Given the description of an element on the screen output the (x, y) to click on. 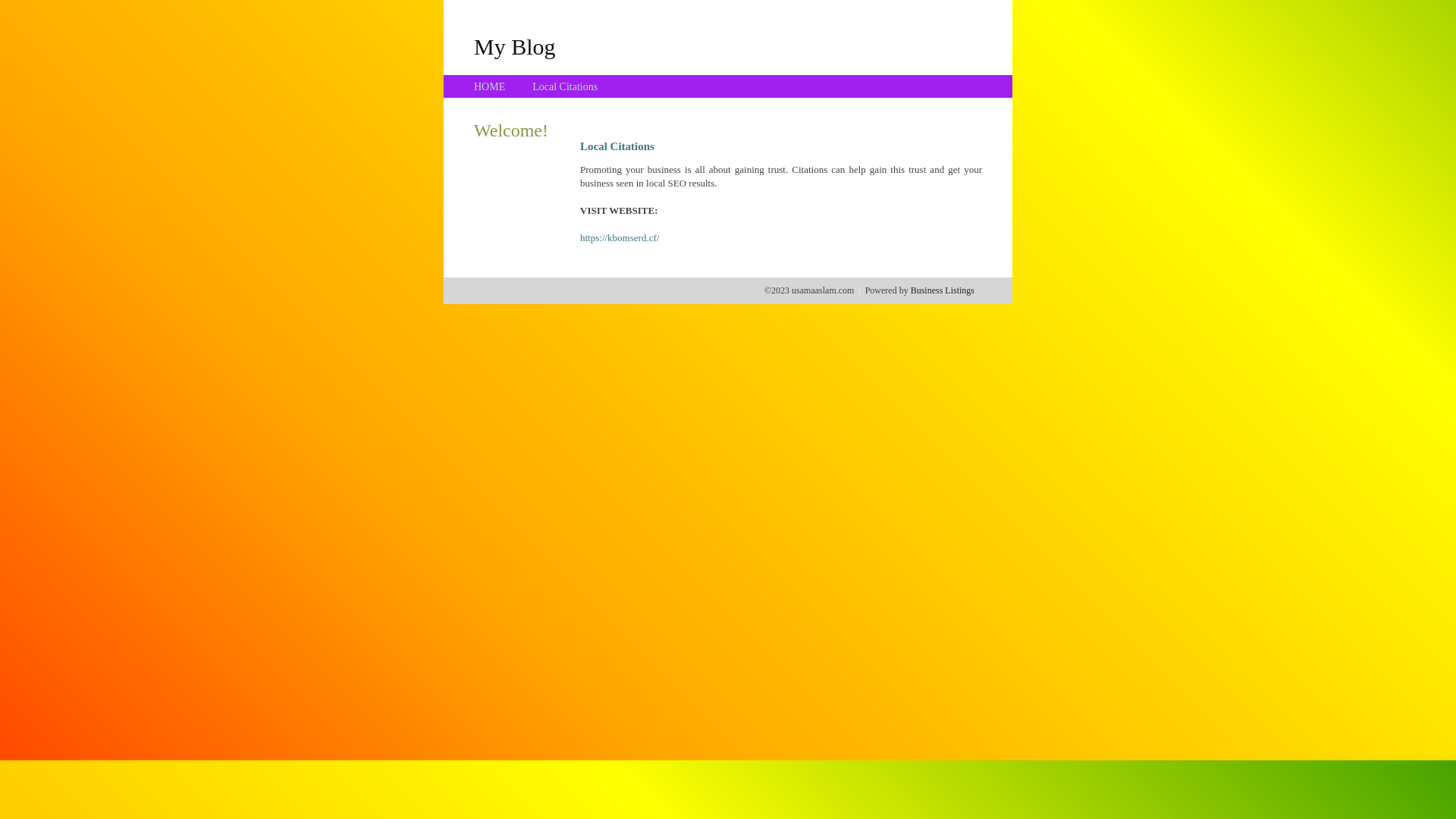
Local Citations Element type: text (564, 86)
HOME Element type: text (489, 86)
https://kbomserd.cf/ Element type: text (619, 237)
My Blog Element type: text (514, 46)
Business Listings Element type: text (942, 290)
